Given the description of an element on the screen output the (x, y) to click on. 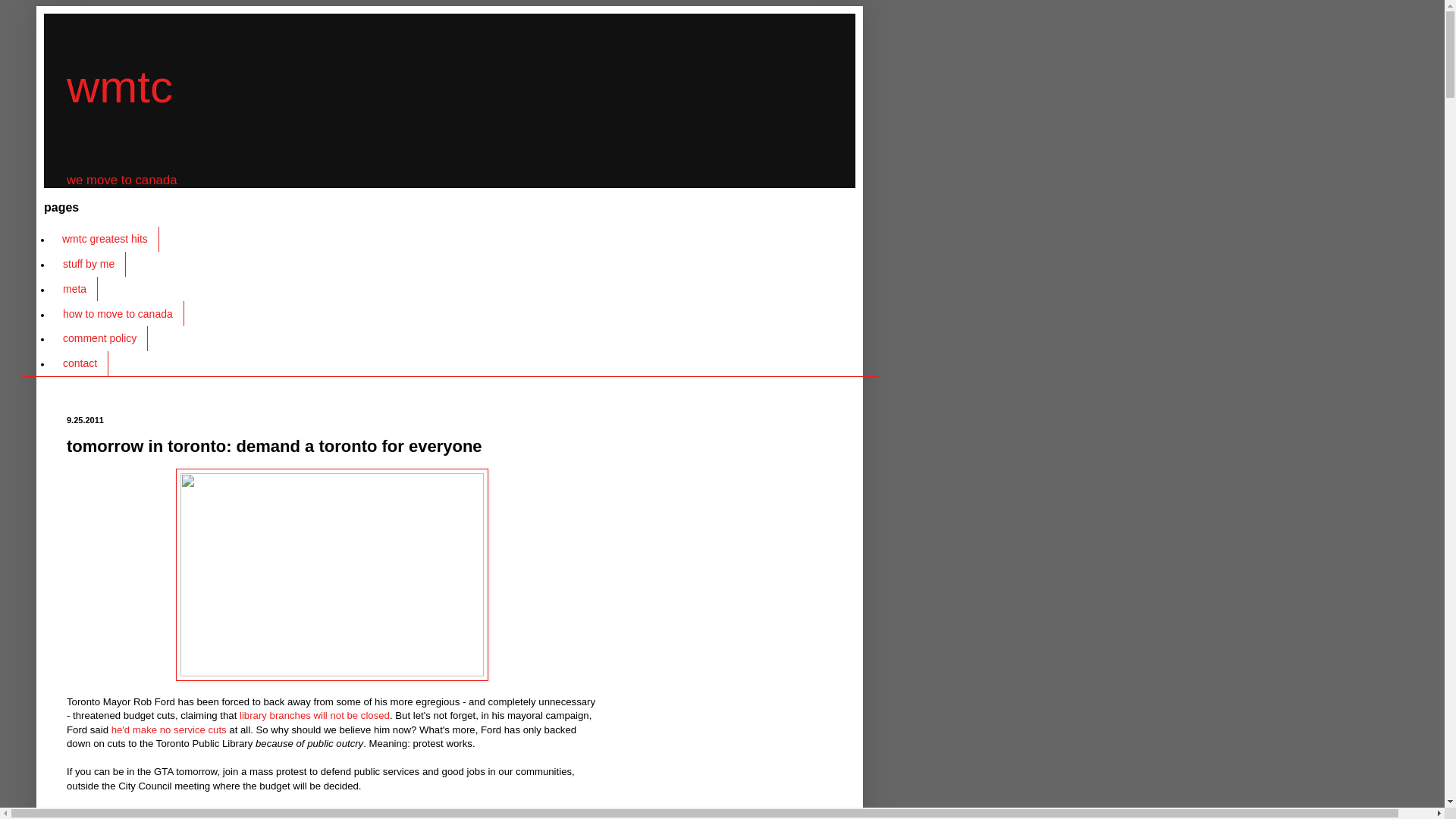
how to move to canada (117, 313)
meta (73, 289)
library branches will not be closed (315, 715)
comment policy (99, 338)
wmtc (119, 86)
he'd make no service cuts (169, 729)
stuff by me (87, 263)
contact (78, 363)
wmtc greatest hits (104, 238)
